Given the description of an element on the screen output the (x, y) to click on. 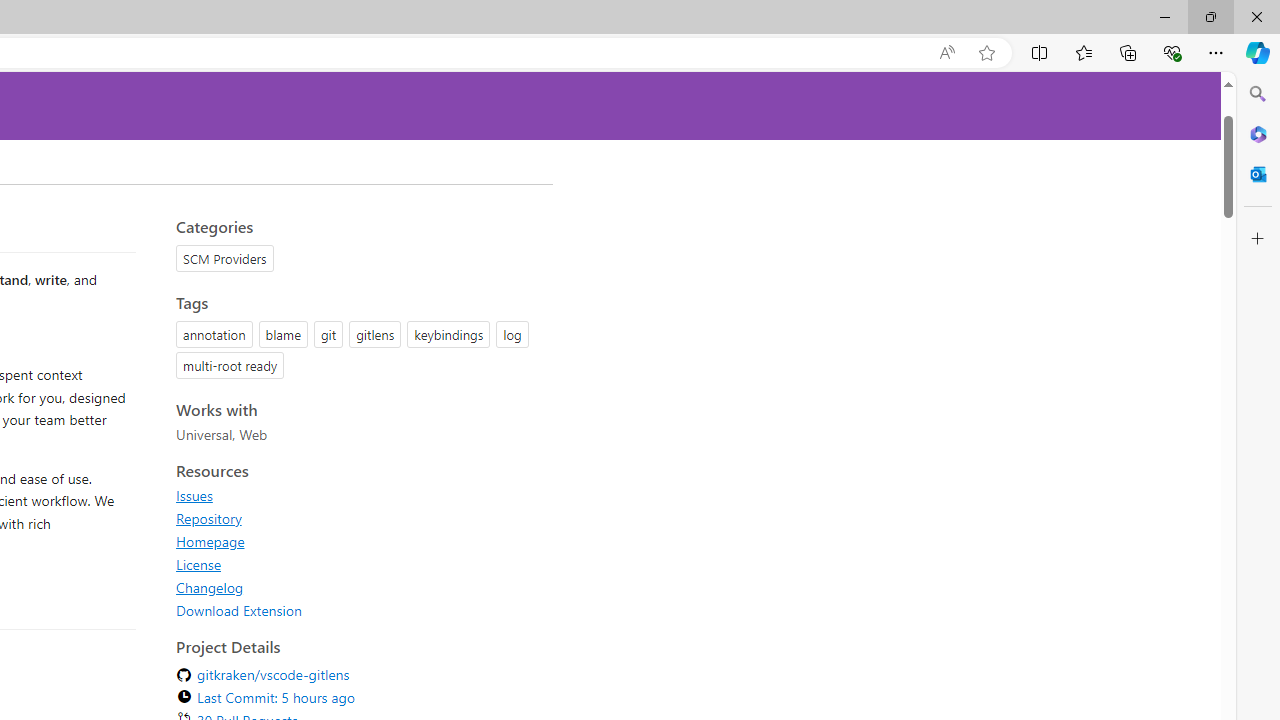
Issues (358, 495)
Customize (1258, 239)
Homepage (358, 541)
Outlook (1258, 174)
Download Extension (358, 610)
